Given the description of an element on the screen output the (x, y) to click on. 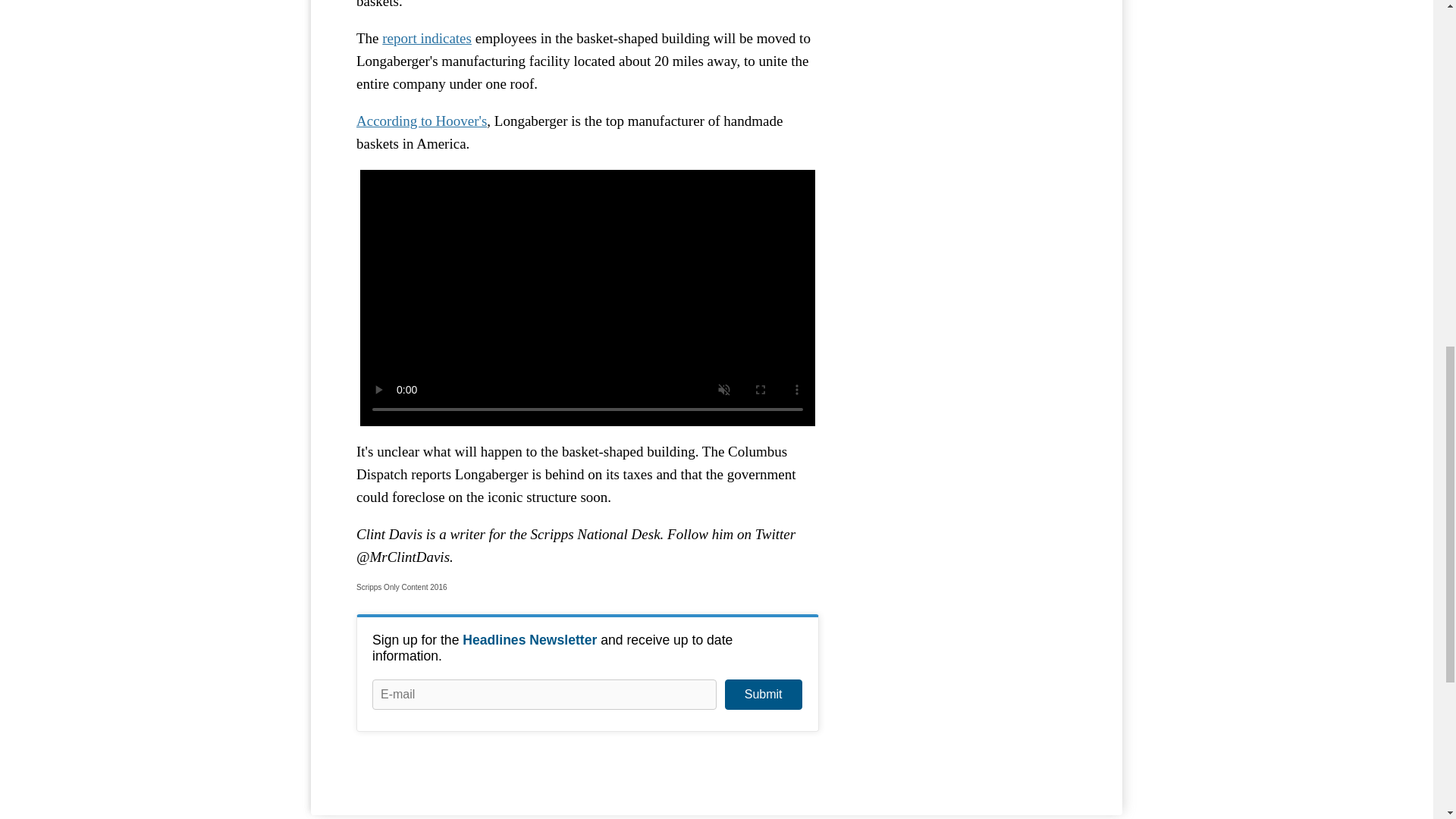
Submit (763, 694)
